Given the description of an element on the screen output the (x, y) to click on. 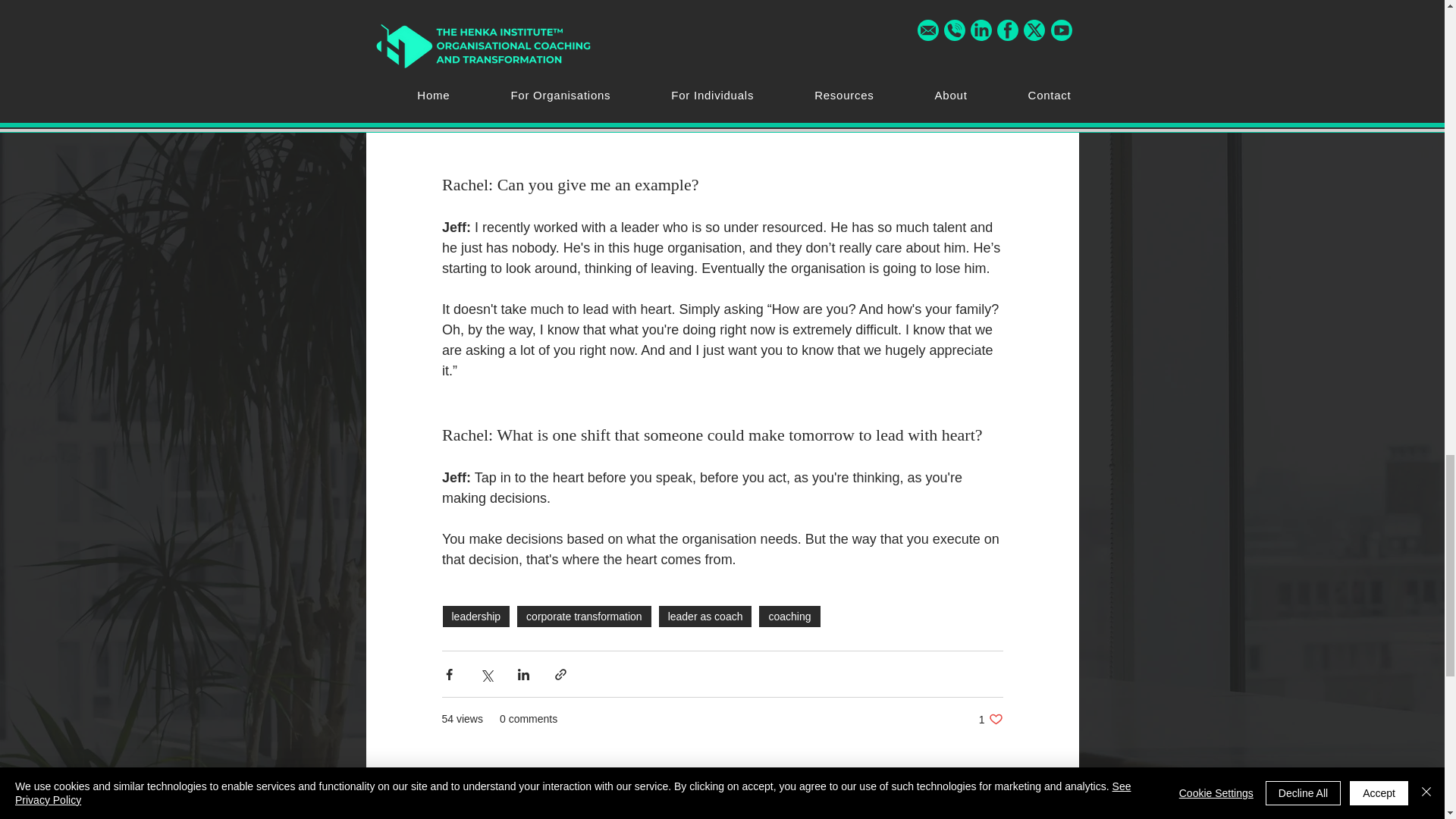
leadership (476, 616)
corporate transformation (584, 616)
coaching (789, 616)
leader as coach (705, 616)
